Given the description of an element on the screen output the (x, y) to click on. 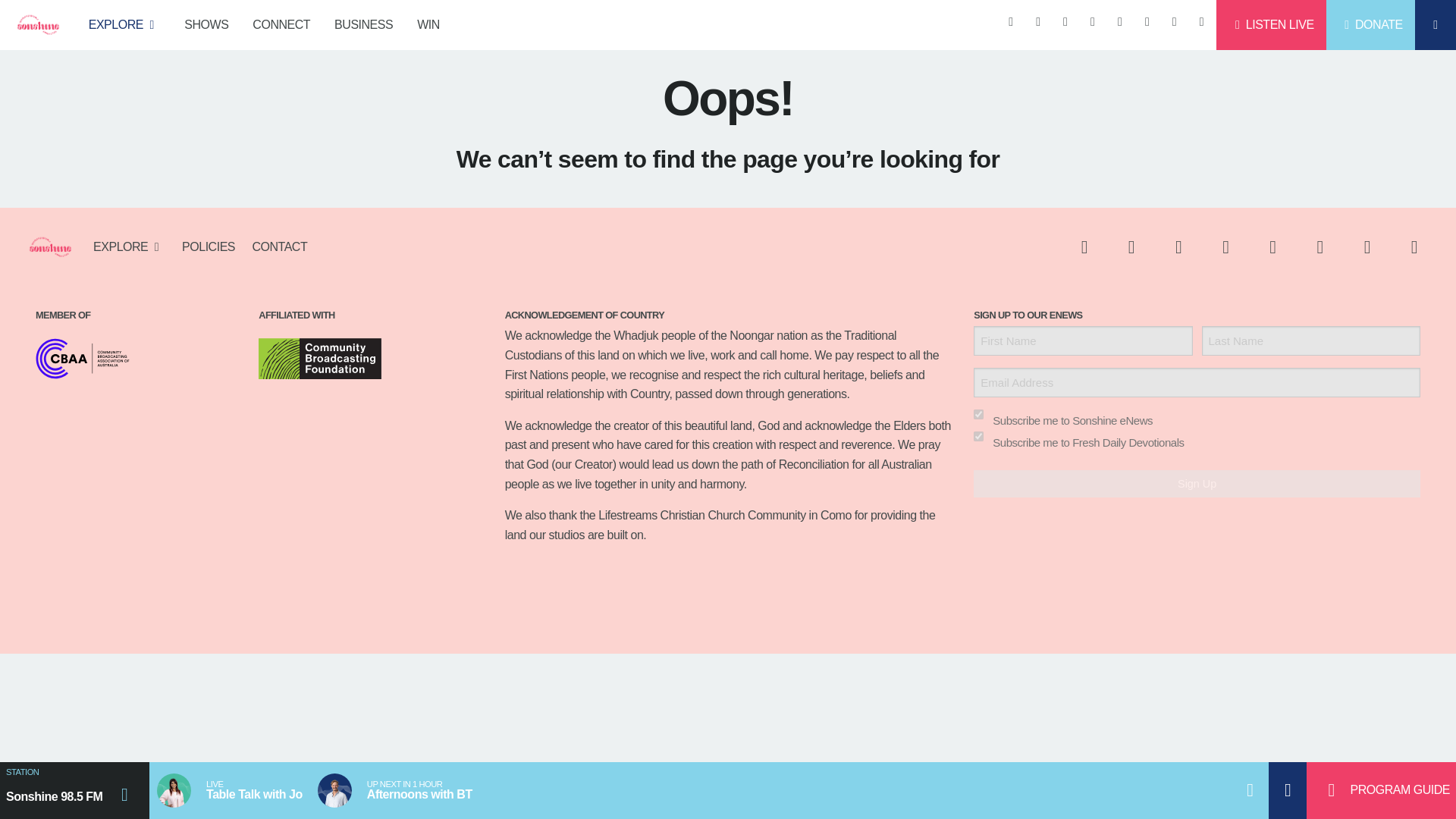
Subscribe me to Fresh Daily Devotionals (979, 436)
WIN (427, 24)
SHOWS (205, 24)
EXPLORE (125, 24)
Subscribe me to Sonshine eNews (979, 414)
DONATE (1370, 24)
BUSINESS (362, 24)
Sign Up (1197, 483)
